Given the description of an element on the screen output the (x, y) to click on. 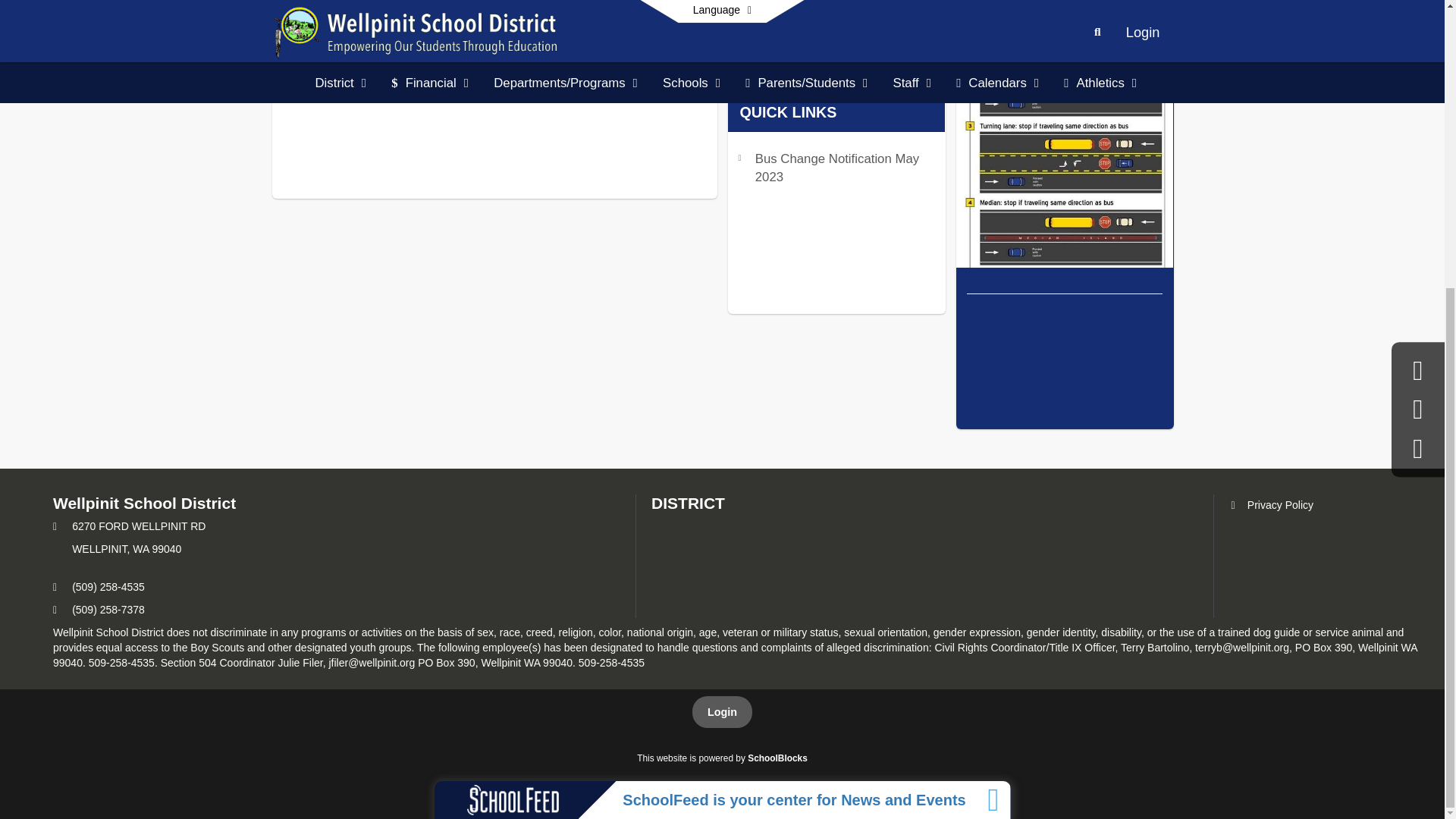
Bus Change Notification May 2023 (836, 167)
Privacy Policy (1270, 504)
Privacy Policy (1270, 504)
SchoolBlocks (778, 757)
Login (722, 712)
Field Trip Request Form (823, 76)
Primary Phone Number (54, 586)
Emergency Bus Routes (821, 100)
Fax (54, 610)
DISTRICT (687, 502)
